Given the description of an element on the screen output the (x, y) to click on. 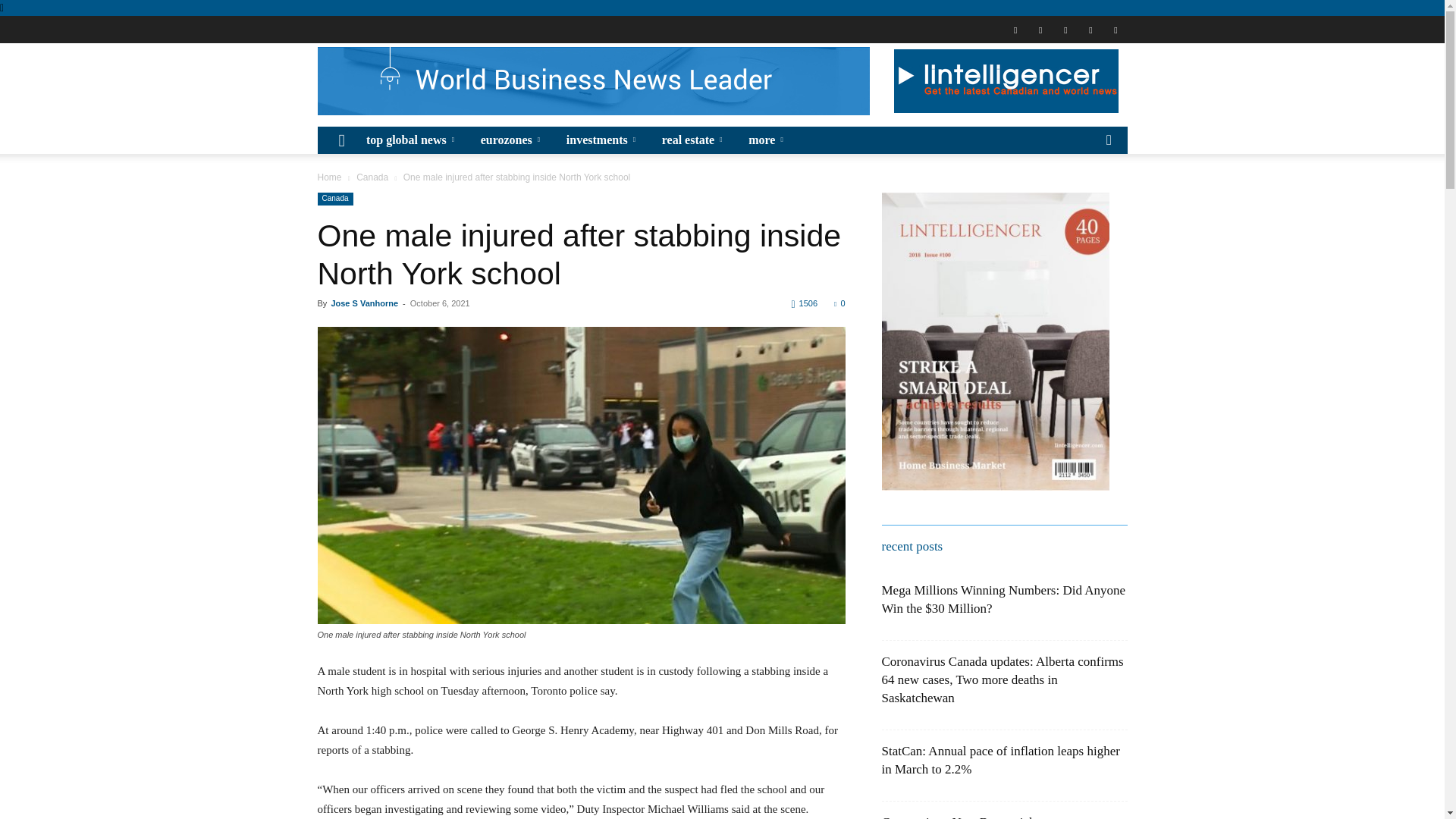
top global news (412, 139)
